Given the description of an element on the screen output the (x, y) to click on. 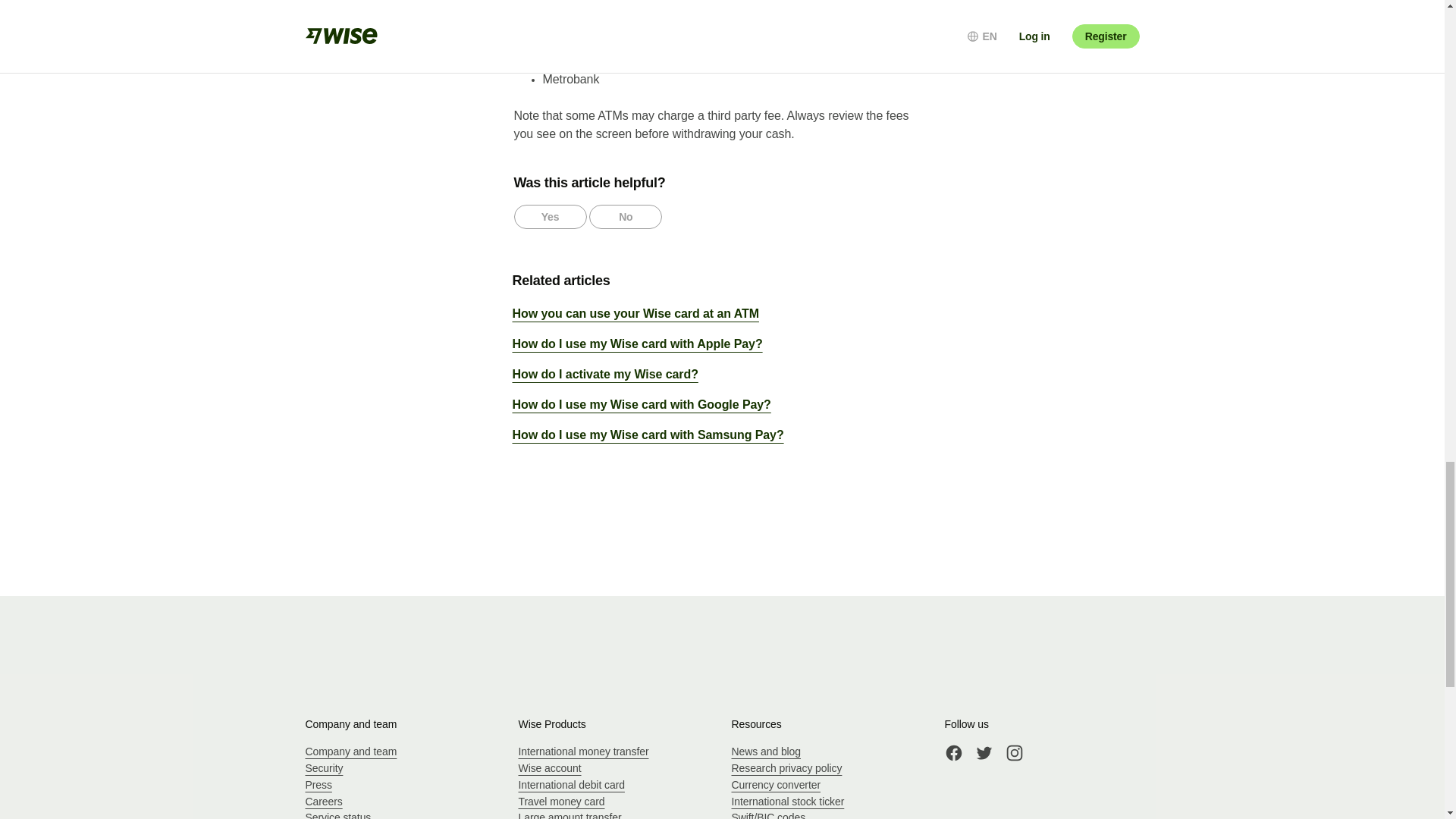
Travel money card (561, 801)
No (625, 216)
Wise account (549, 767)
Company and team (350, 751)
Service status (337, 815)
Careers (323, 801)
International debit card (571, 784)
Large amount transfer (569, 815)
Security (323, 767)
How do I use my Wise card with Samsung Pay? (726, 434)
Press (317, 784)
Yes (549, 216)
International money transfer (583, 751)
How you can use your Wise card at an ATM (726, 319)
How do I activate my Wise card? (726, 380)
